Given the description of an element on the screen output the (x, y) to click on. 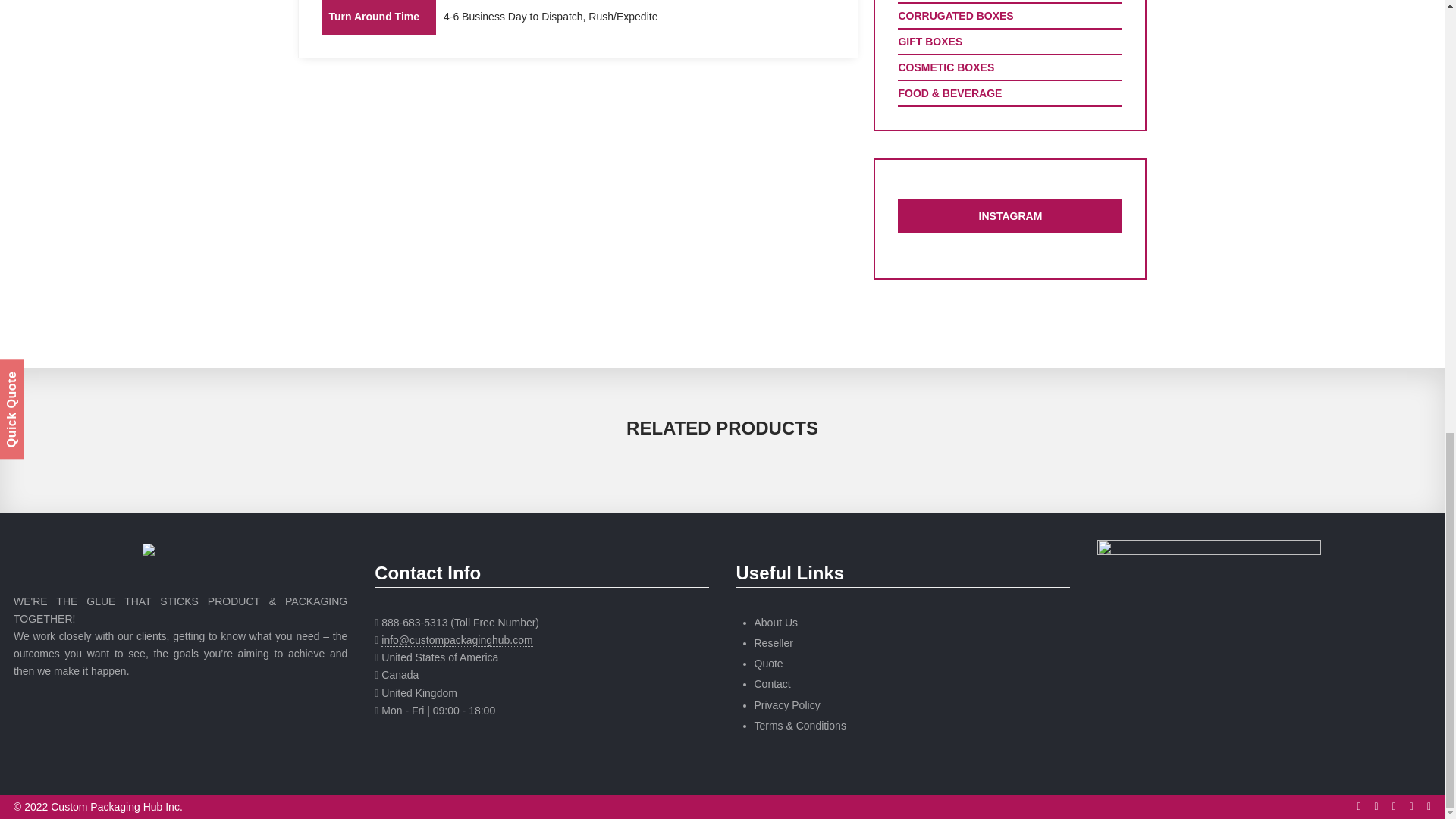
About Us (775, 622)
Reseller (773, 643)
Quote (768, 663)
